Given the description of an element on the screen output the (x, y) to click on. 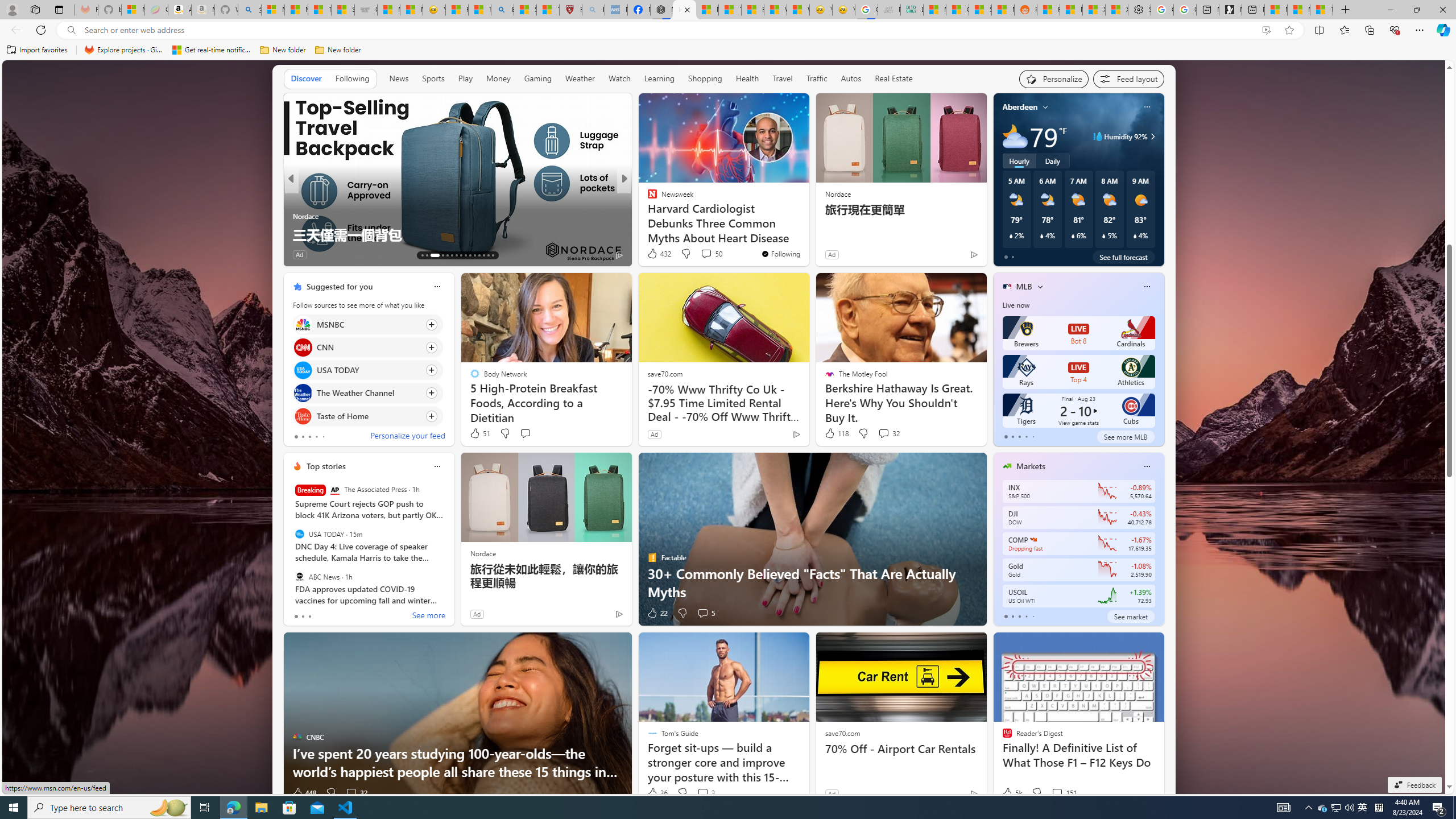
Autos (850, 79)
Study finds three biggest risk factors for dementia (807, 234)
These 3 Stocks Pay You More Than 5% to Own Them (1321, 9)
448 Like (303, 792)
Shopping (705, 79)
USA TODAY (299, 533)
14 Common Myths Debunked By Scientific Facts (729, 9)
The Associated Press (334, 490)
View comments 14 Comment (703, 254)
Taste of Home (302, 416)
